Given the description of an element on the screen output the (x, y) to click on. 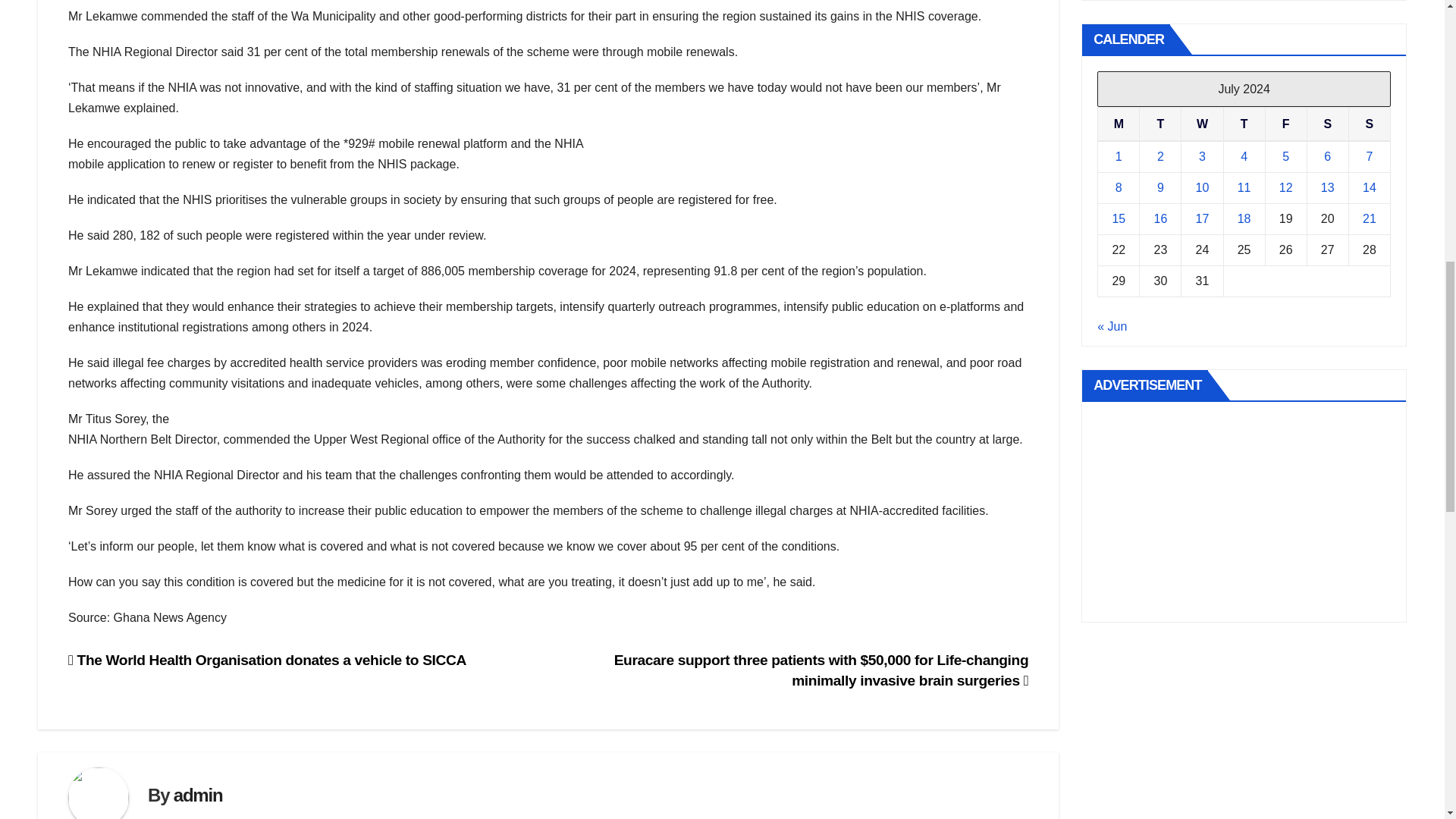
The World Health Organisation donates a vehicle to SICCA (266, 659)
Monday (1118, 123)
Tuesday (1160, 123)
admin (197, 794)
